Given the description of an element on the screen output the (x, y) to click on. 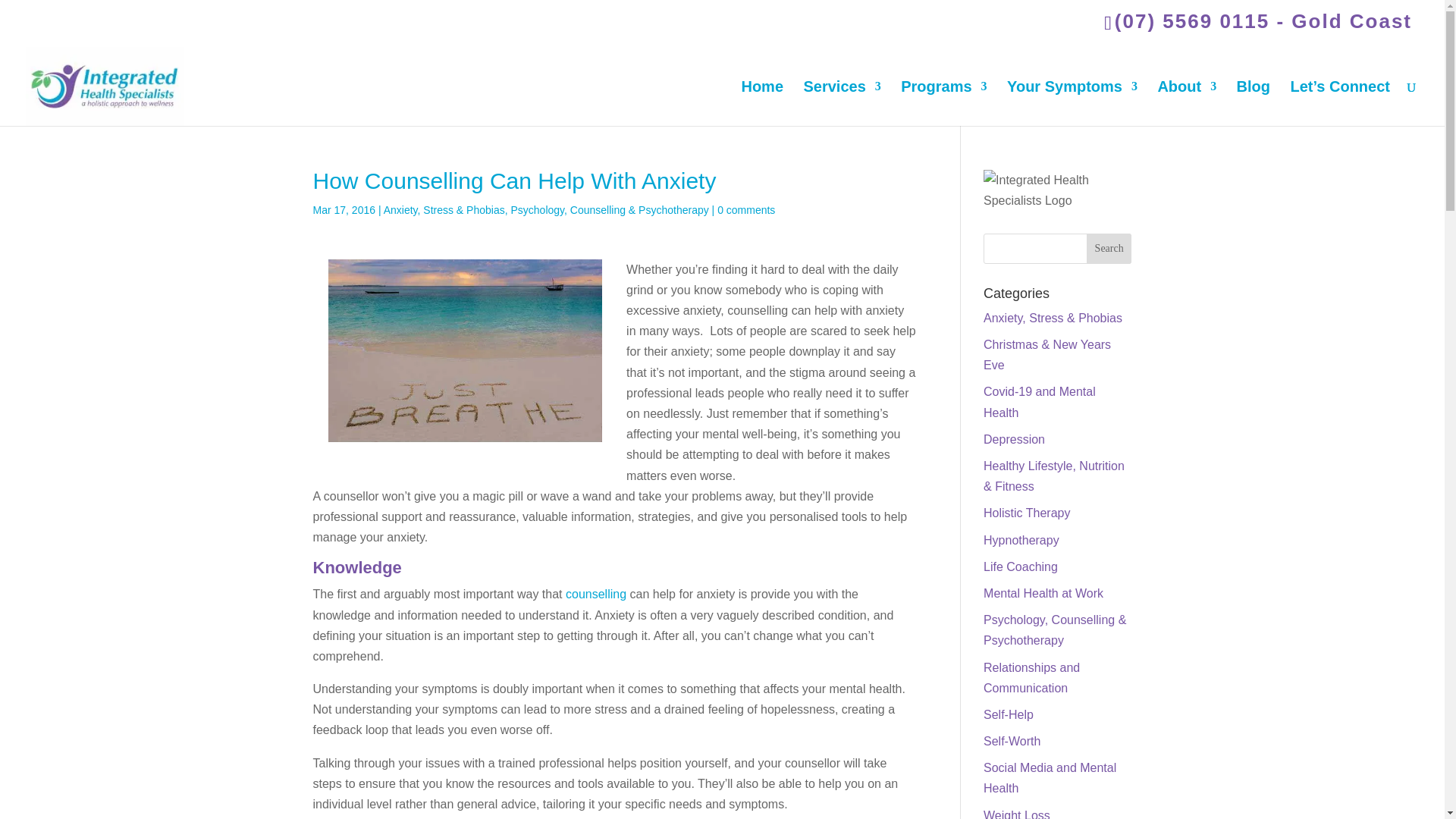
About (1186, 102)
Services (841, 102)
Your Symptoms (1072, 102)
Search (1109, 248)
Home (762, 102)
Programs (944, 102)
